Given the description of an element on the screen output the (x, y) to click on. 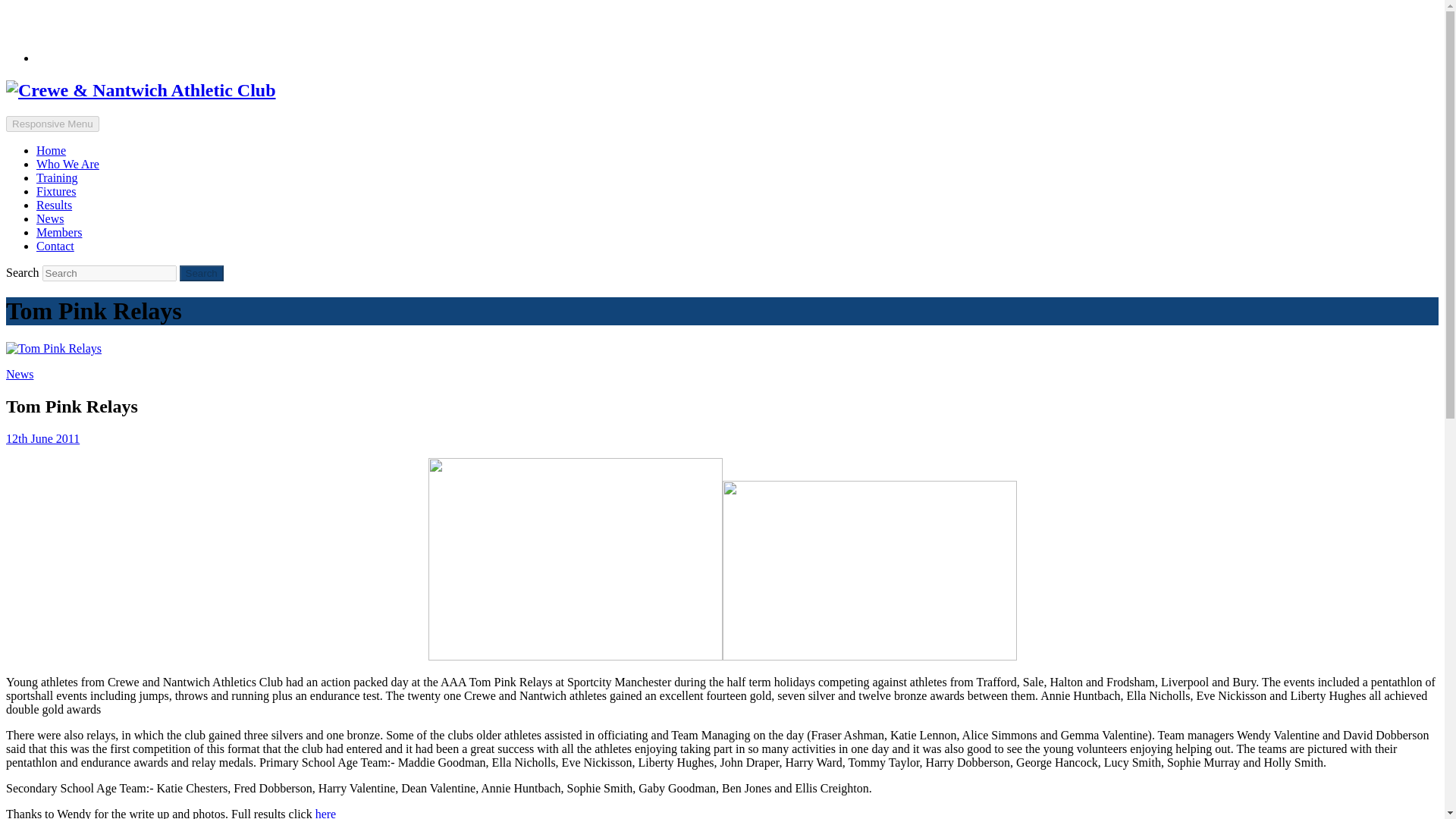
News (19, 373)
Responsive Menu (52, 123)
News (50, 218)
Who We Are (67, 164)
Search (201, 273)
Members (58, 232)
here (325, 812)
 Mail Us  (77, 18)
Results (53, 205)
Contact (55, 245)
